Given the description of an element on the screen output the (x, y) to click on. 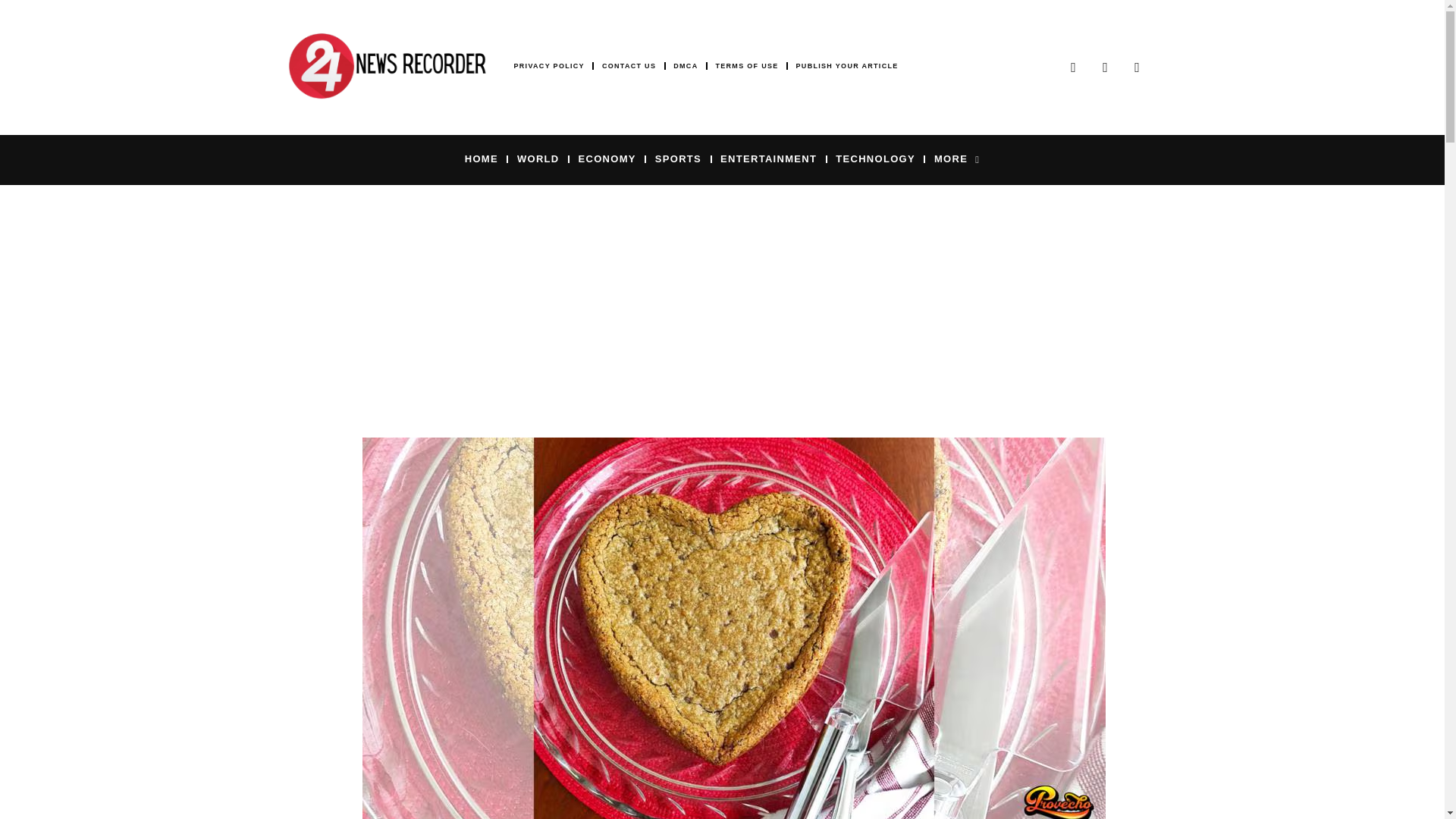
ECONOMY (607, 158)
PUBLISH YOUR ARTICLE (847, 66)
DMCA (684, 66)
CONTACT US (628, 66)
ENTERTAINMENT (768, 158)
SPORTS (678, 158)
PRIVACY POLICY (549, 66)
TERMS OF USE (745, 66)
WORLD (537, 158)
HOME (480, 158)
Skip to content (11, 31)
TECHNOLOGY (875, 158)
MORE (956, 158)
